Given the description of an element on the screen output the (x, y) to click on. 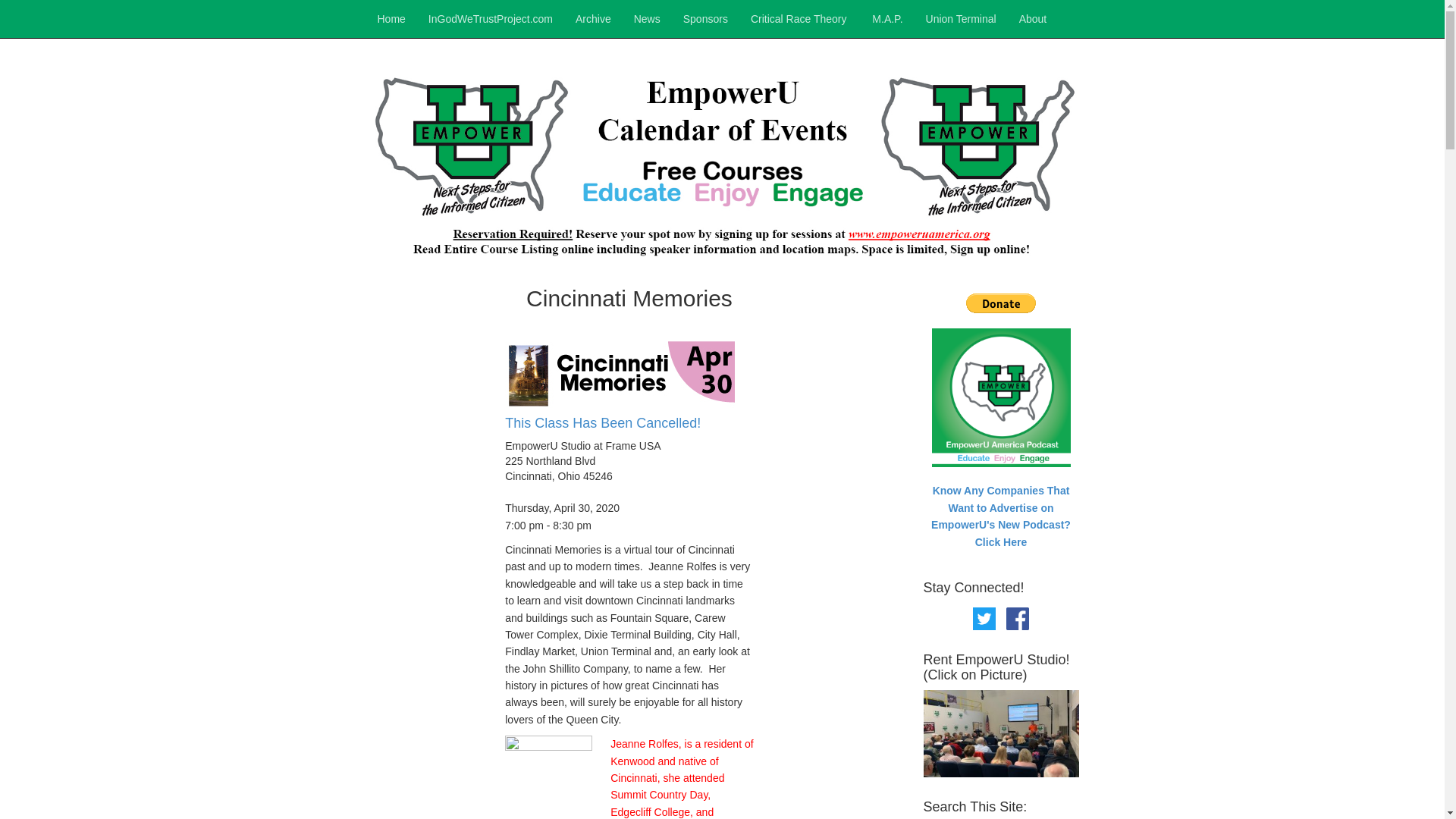
 M.A.P. (885, 18)
Critical Race Theory (799, 18)
About (1032, 18)
Home (390, 18)
Archive (593, 18)
Critical Race Theory (799, 18)
Archive (593, 18)
InGodWeTrustProject.com (490, 18)
4-30-Cincinnati-Memories (620, 374)
Home (390, 18)
Empower U Ohio (721, 162)
News (647, 18)
InGodWeTrustProject.com (490, 18)
Sponsors (705, 18)
